Given the description of an element on the screen output the (x, y) to click on. 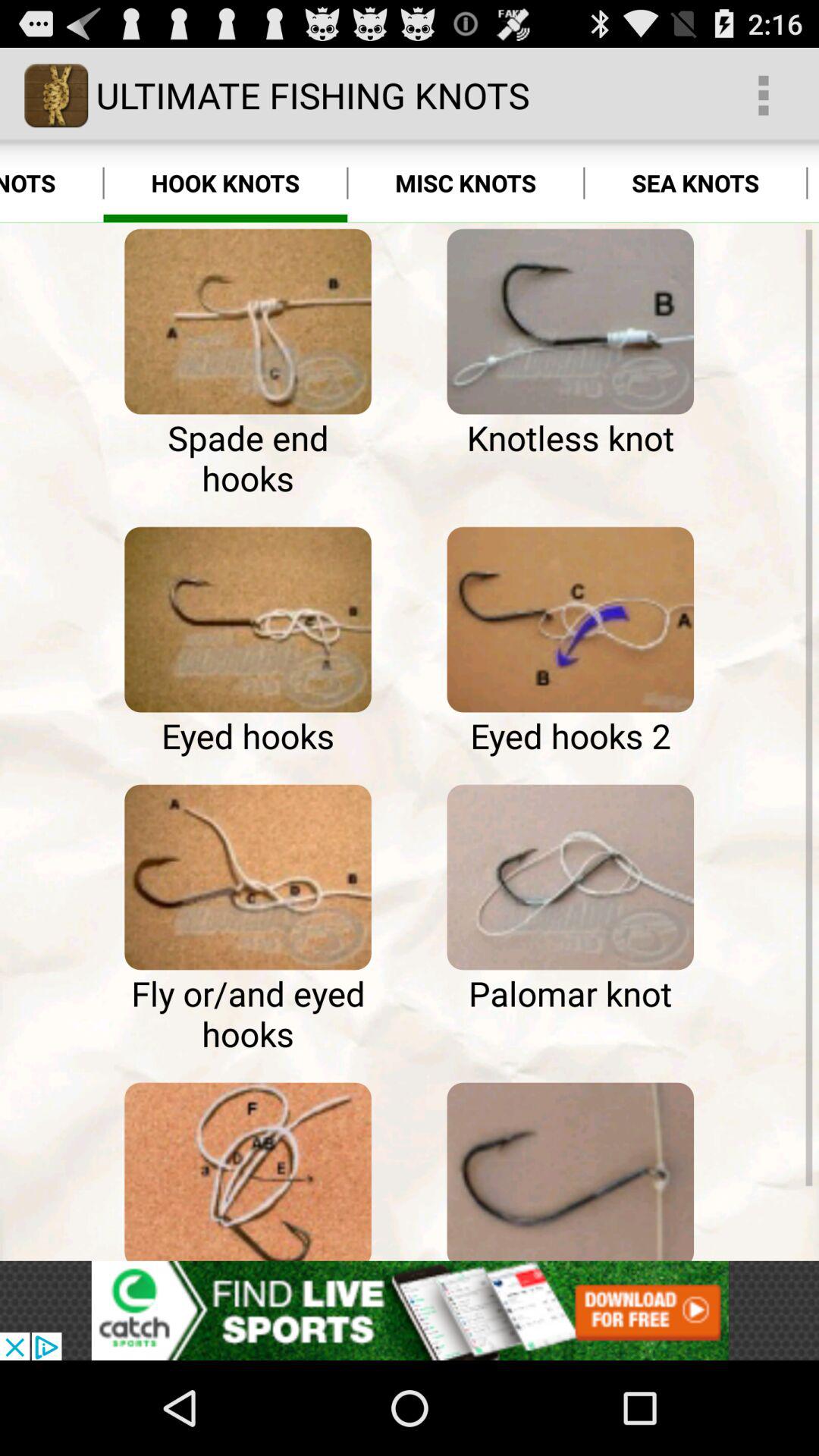
image page (247, 876)
